Given the description of an element on the screen output the (x, y) to click on. 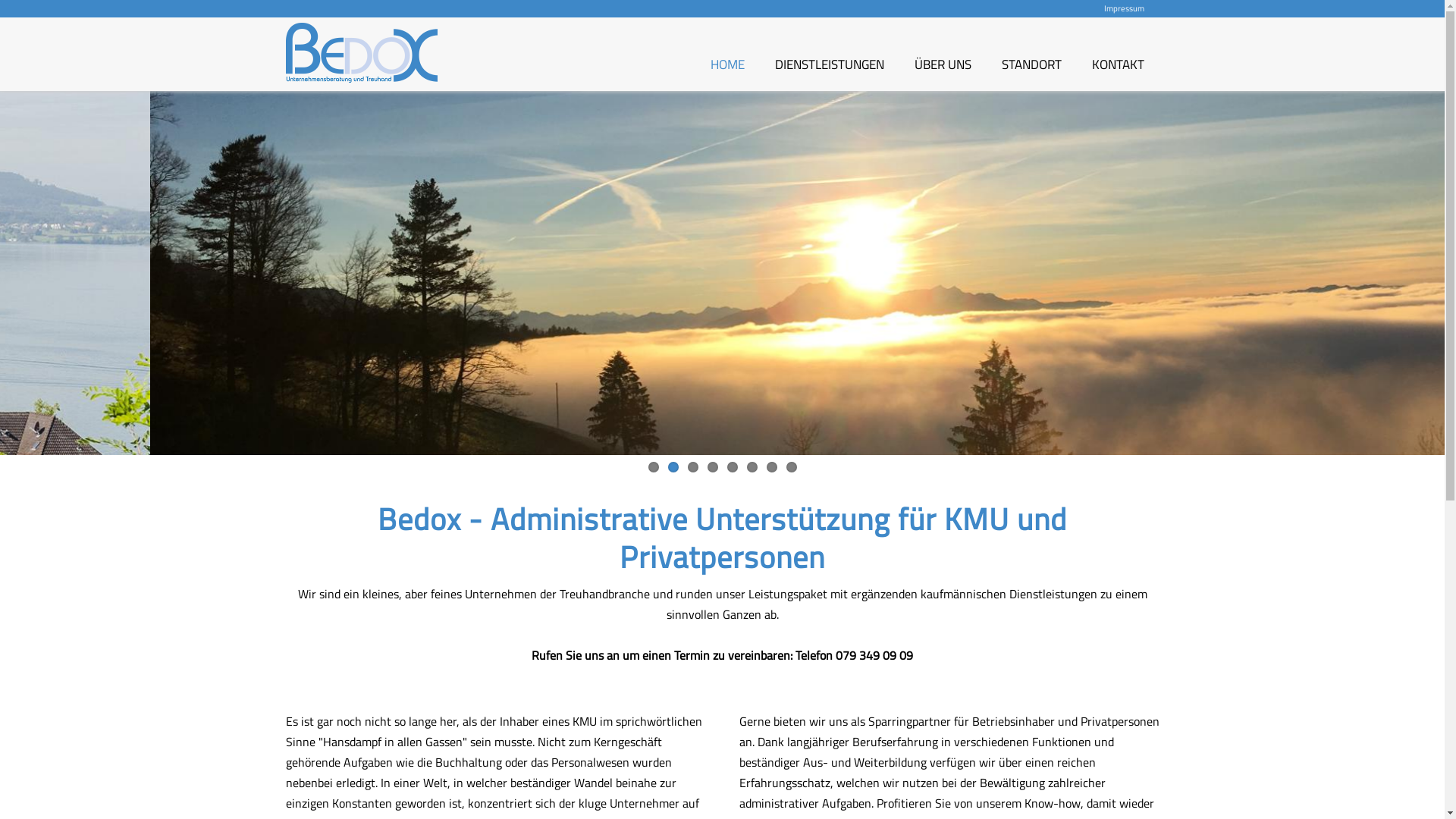
2 Element type: text (672, 466)
Impressum Element type: text (1124, 8)
5 Element type: text (731, 466)
4 Element type: text (711, 466)
8 Element type: text (790, 466)
HOME Element type: text (726, 73)
STANDORT Element type: text (1030, 73)
3 Element type: text (692, 466)
KONTAKT Element type: text (1117, 73)
DIENSTLEISTUNGEN Element type: text (829, 73)
6 Element type: text (751, 466)
1 Element type: text (652, 466)
7 Element type: text (770, 466)
